Given the description of an element on the screen output the (x, y) to click on. 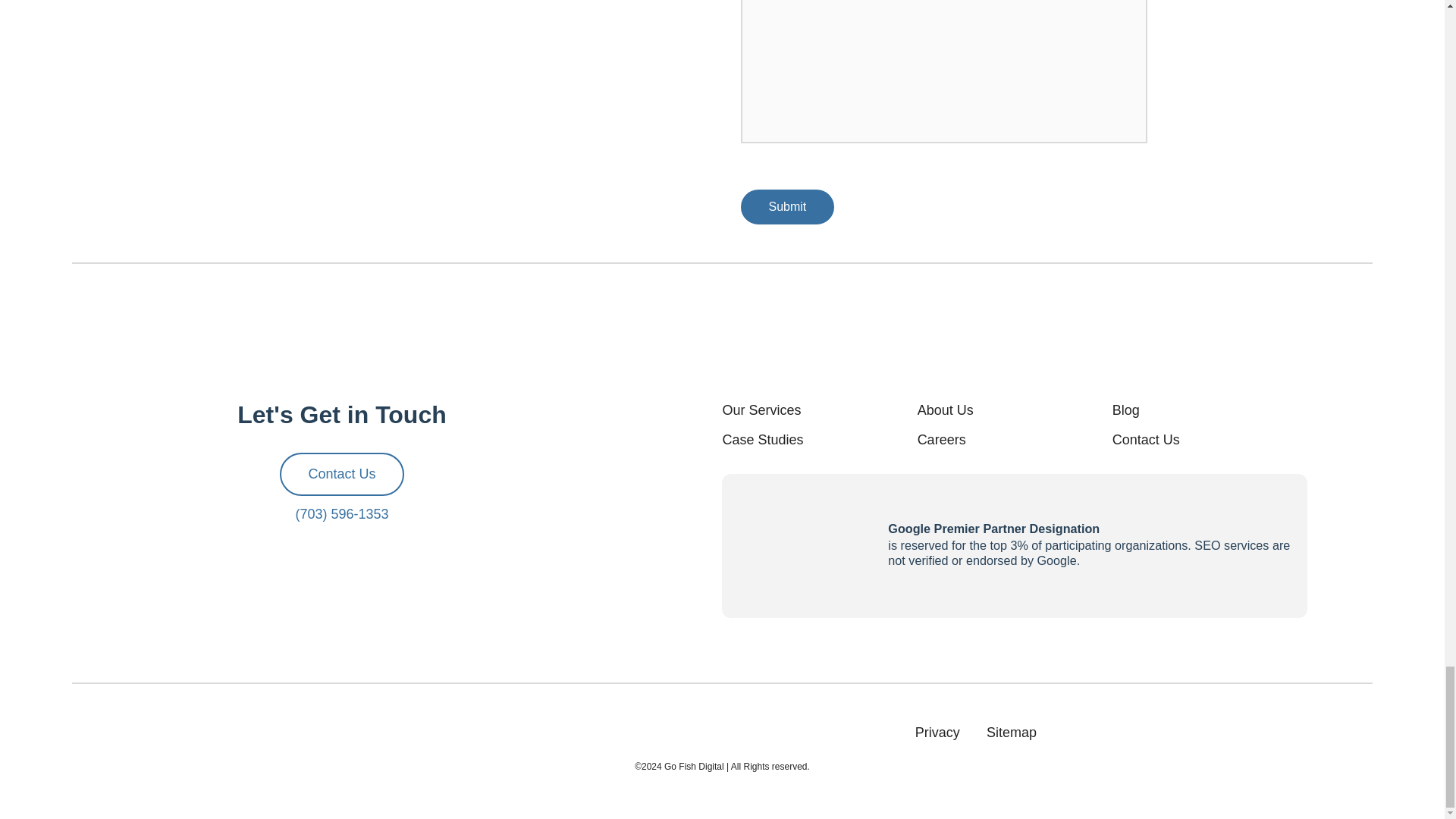
Submit (786, 206)
